Given the description of an element on the screen output the (x, y) to click on. 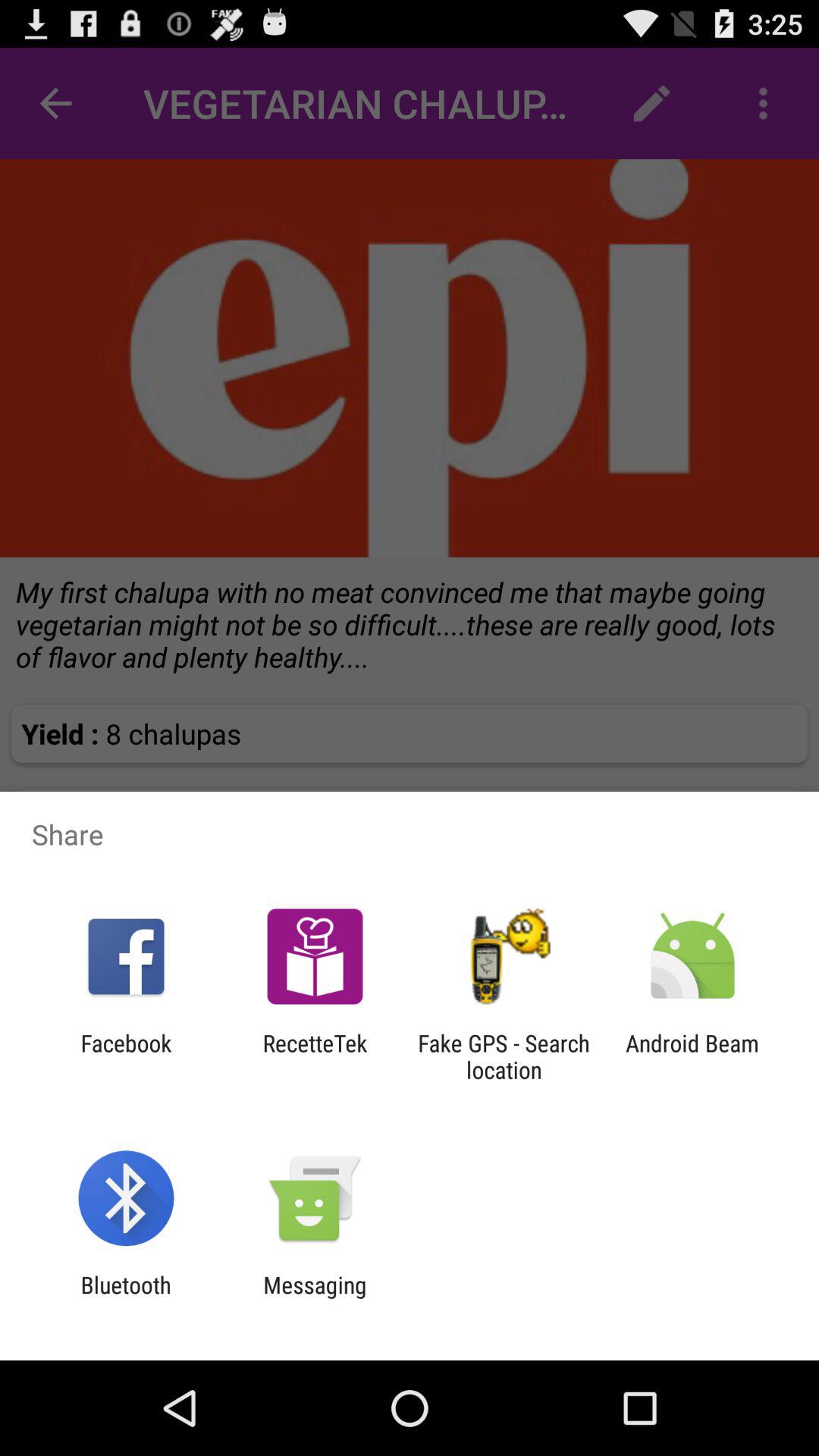
turn on app to the left of android beam app (503, 1056)
